Given the description of an element on the screen output the (x, y) to click on. 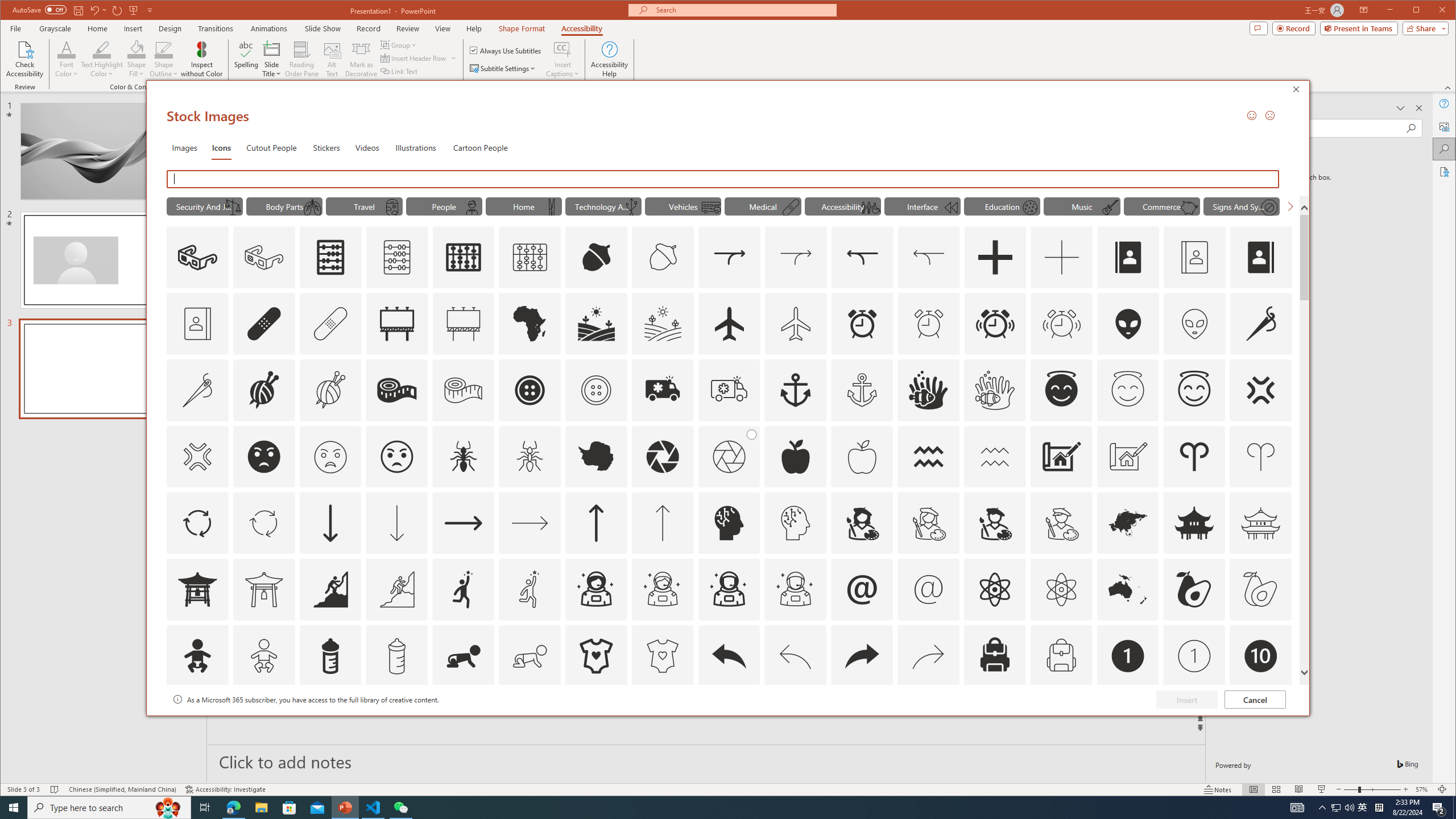
Cancel (1254, 699)
Task View (204, 807)
Insert Header Row (418, 57)
AutomationID: Icons_Badge6 (795, 721)
Shape Outline Blue, Accent 1 (163, 48)
AutomationID: Icons_AdhesiveBandage (263, 323)
AutomationID: Icons_WeightsUneven1_M (232, 207)
AutomationID: Icons_Abacus1_M (529, 256)
AutomationID: Icons_ArtificialIntelligence_M (795, 522)
Shape Fill Orange, Accent 2 (136, 48)
AutomationID: Icons_AlterationsTailoring3 (529, 389)
